Given the description of an element on the screen output the (x, y) to click on. 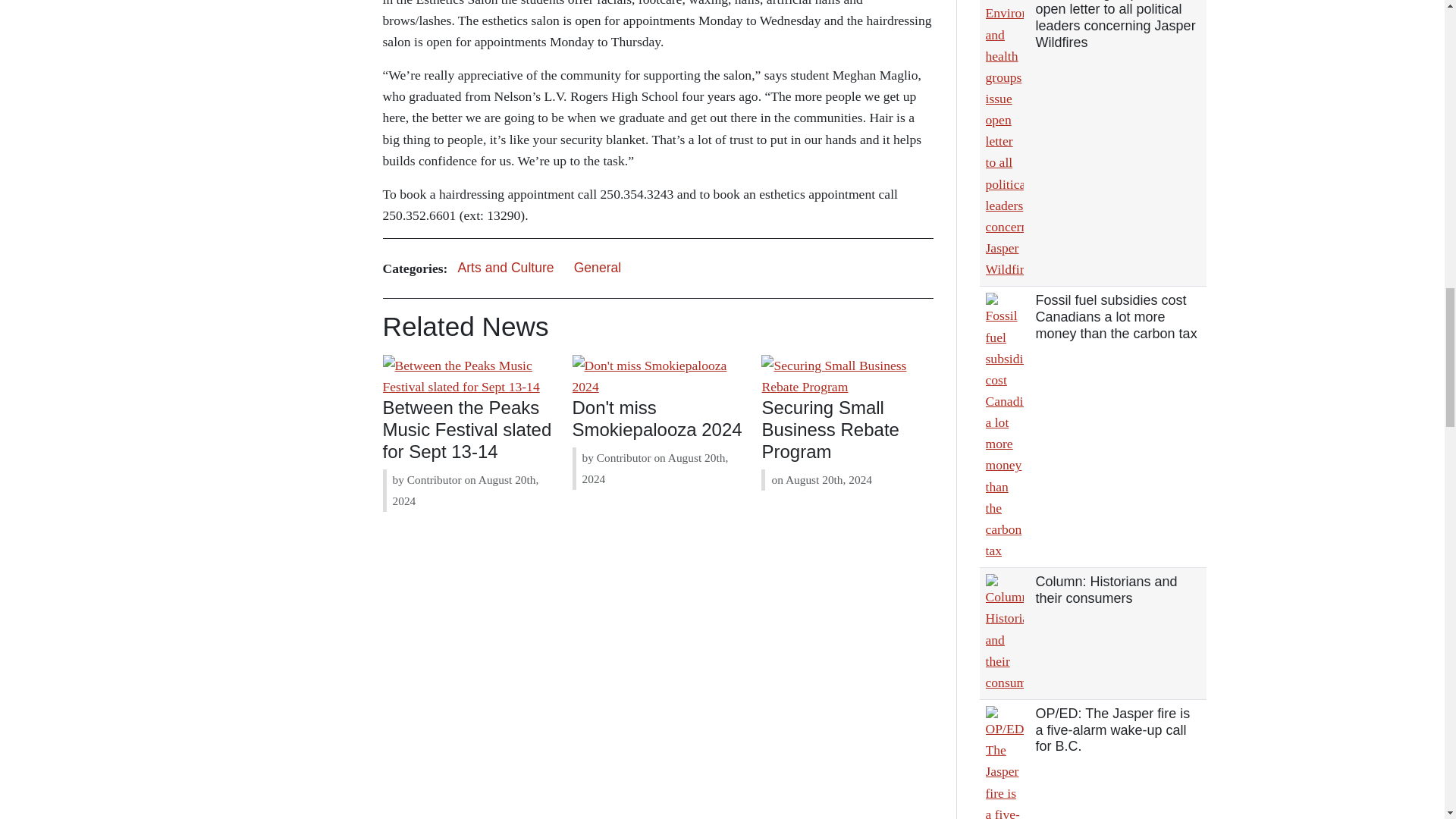
Arts and Culture (504, 267)
Don't miss Smokiepalooza 2024 (656, 418)
Securing Small Business Rebate Program (829, 429)
Between the Peaks Music Festival slated for Sept 13-14 (466, 429)
Column: Historians and their consumers (1106, 590)
General (597, 267)
